Given the description of an element on the screen output the (x, y) to click on. 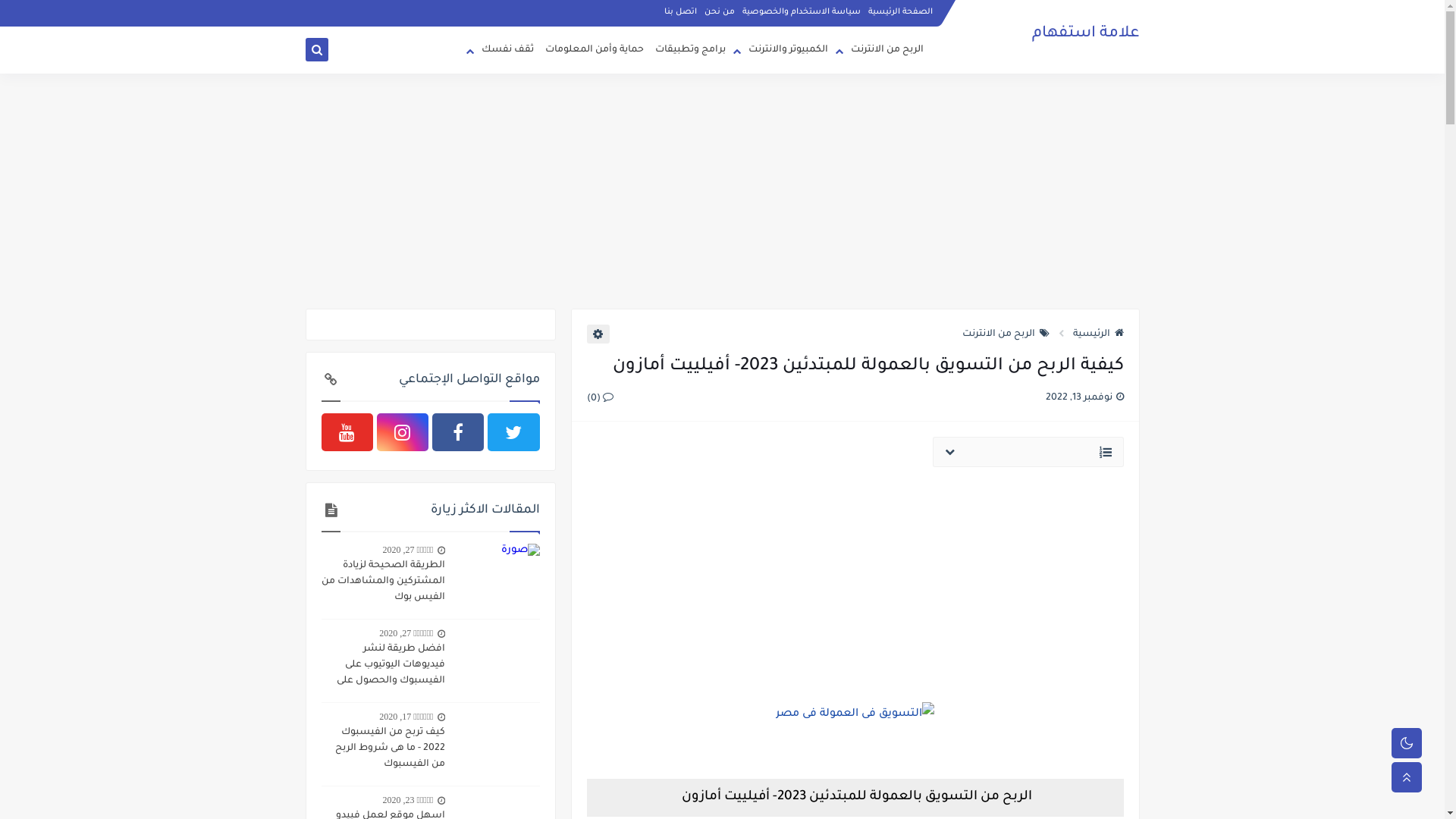
Advertisement Element type: hover (721, 190)
facebook Element type: hover (457, 432)
twitter Element type: hover (513, 432)
(0) Element type: text (599, 397)
Advertisement Element type: hover (854, 583)
youtube Element type: hover (347, 432)
instagram Element type: hover (402, 432)
